Given the description of an element on the screen output the (x, y) to click on. 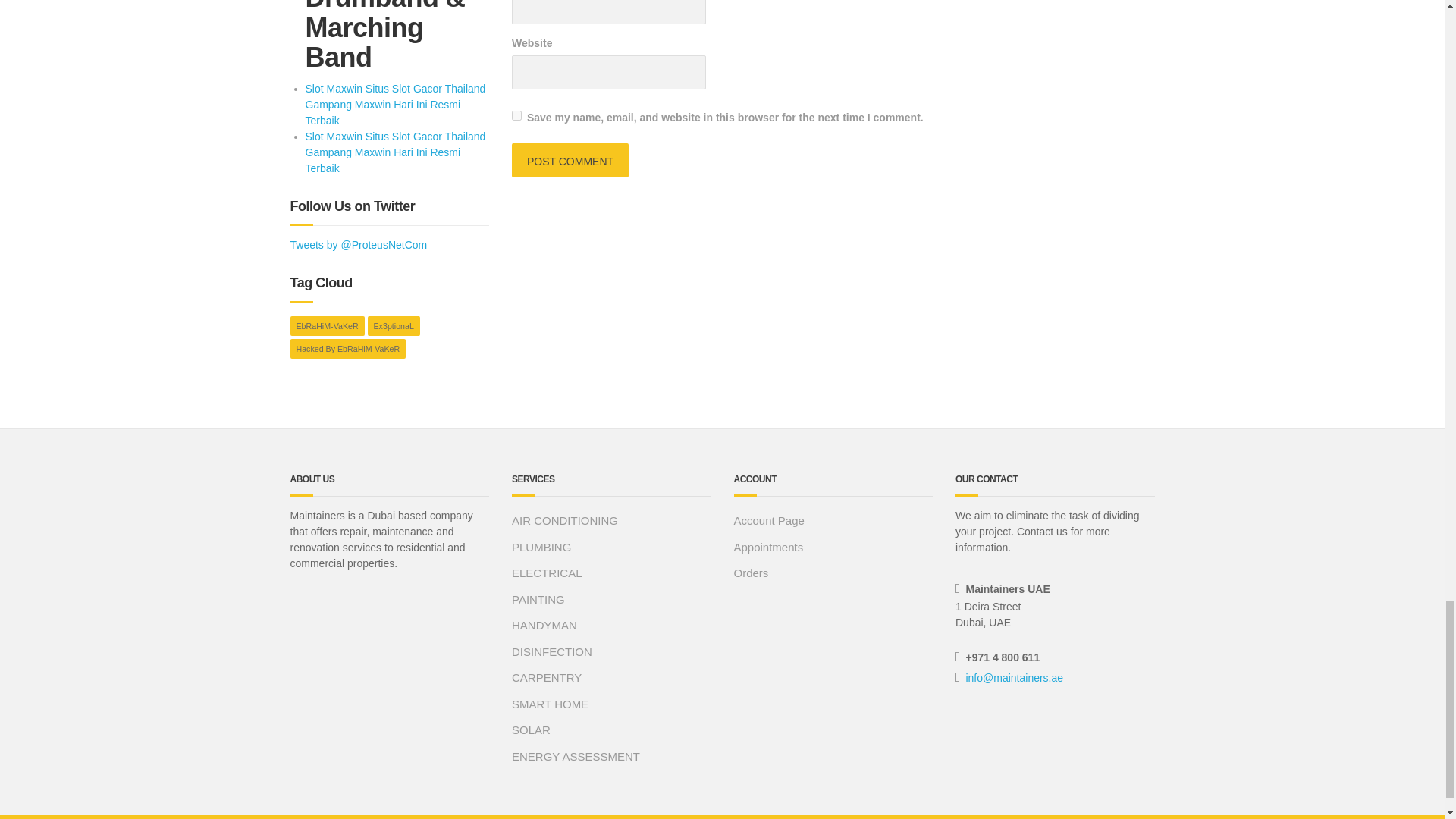
yes (516, 115)
Post Comment (570, 160)
Post Comment (570, 160)
